Given the description of an element on the screen output the (x, y) to click on. 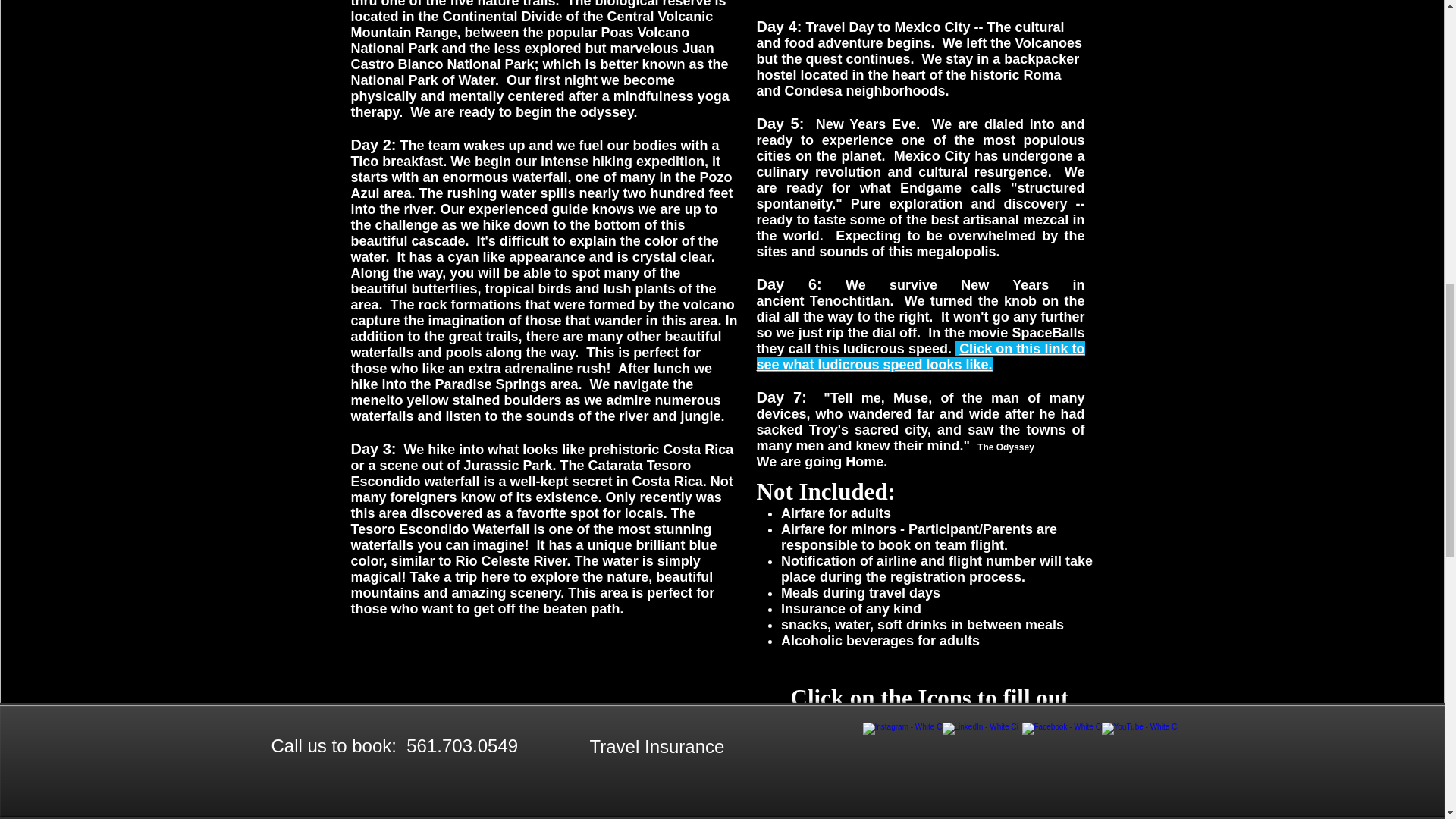
Click on this link to see what ludicrous speed looks like. (920, 356)
